Given the description of an element on the screen output the (x, y) to click on. 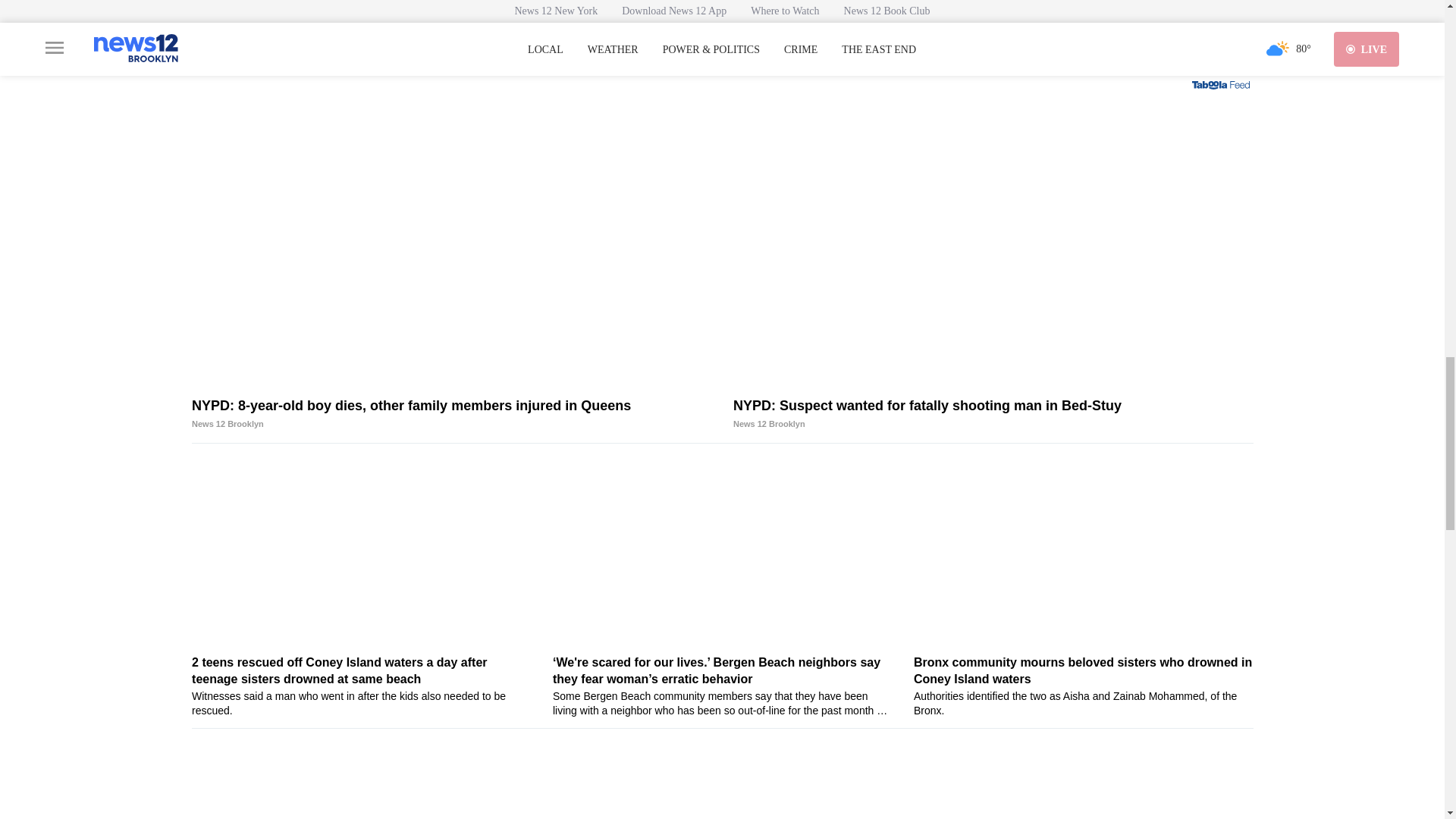
NYPD: Suspect wanted for fatally shooting man in Bed-Stuy (992, 414)
